Given the description of an element on the screen output the (x, y) to click on. 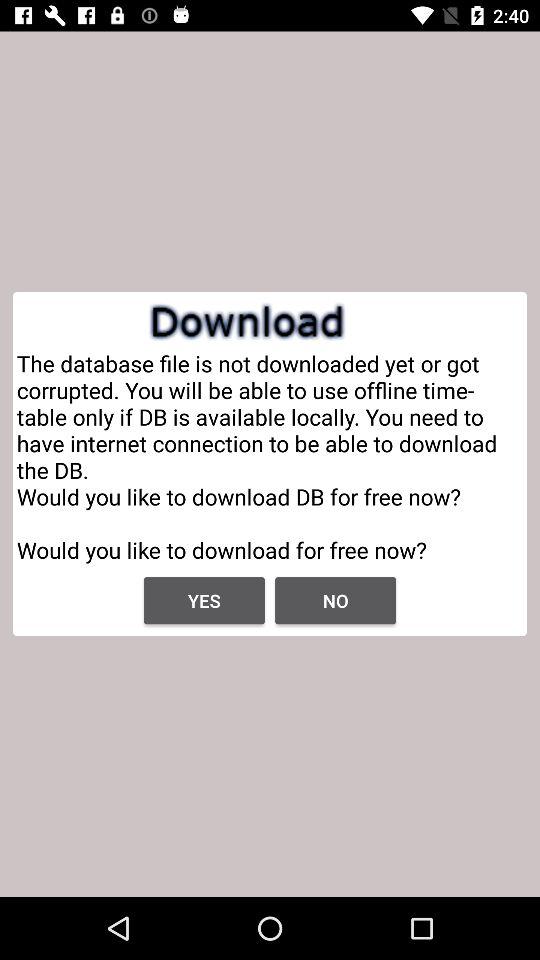
click the app below the the database file app (204, 600)
